Given the description of an element on the screen output the (x, y) to click on. 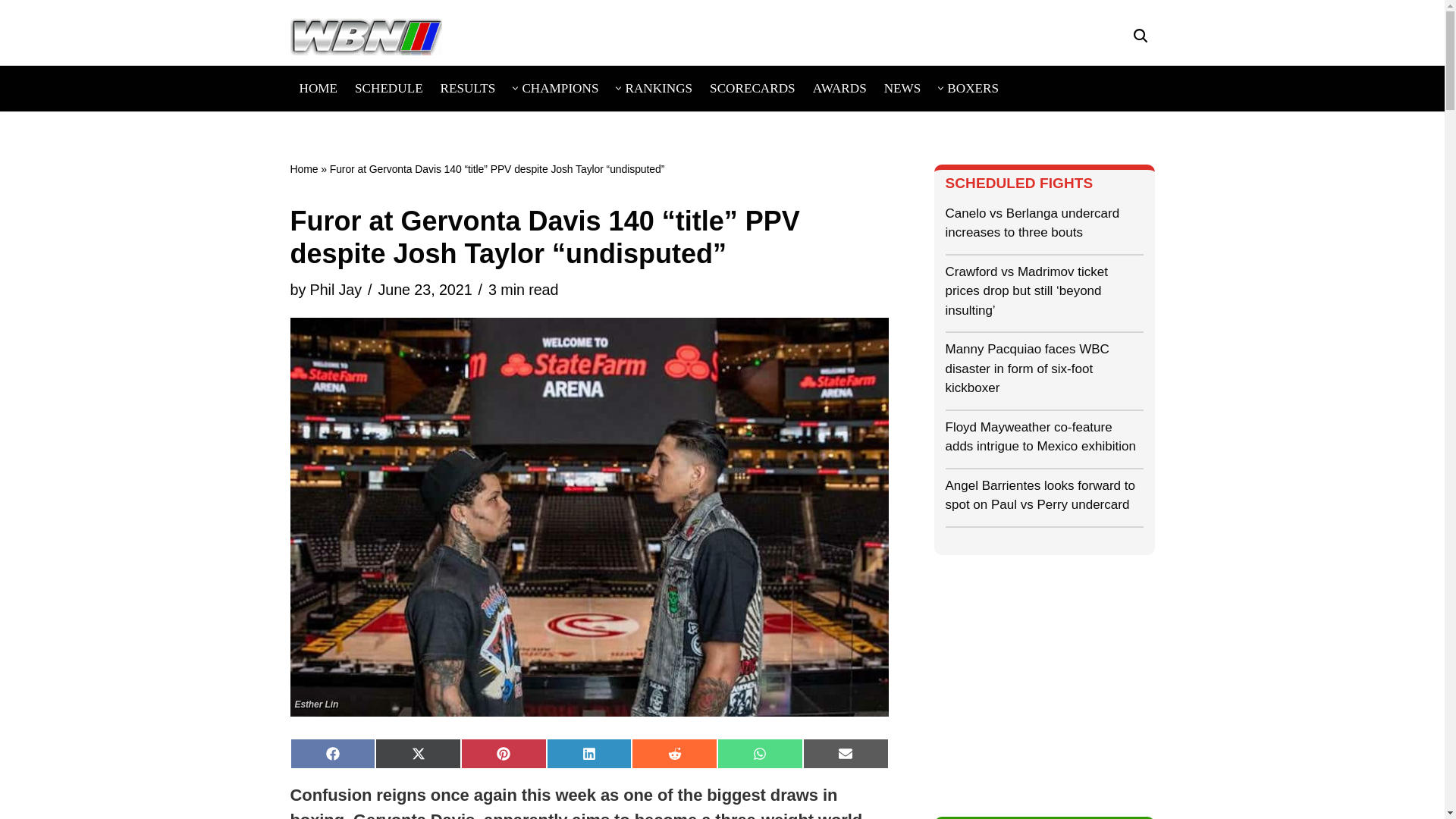
BOXERS (972, 87)
SCHEDULE (389, 87)
Posts by Phil Jay (335, 289)
RANKINGS (658, 87)
SCORECARDS (752, 87)
HOME (317, 87)
Skip to content (11, 37)
RESULTS (468, 87)
NEWS (902, 87)
AWARDS (839, 87)
